Given the description of an element on the screen output the (x, y) to click on. 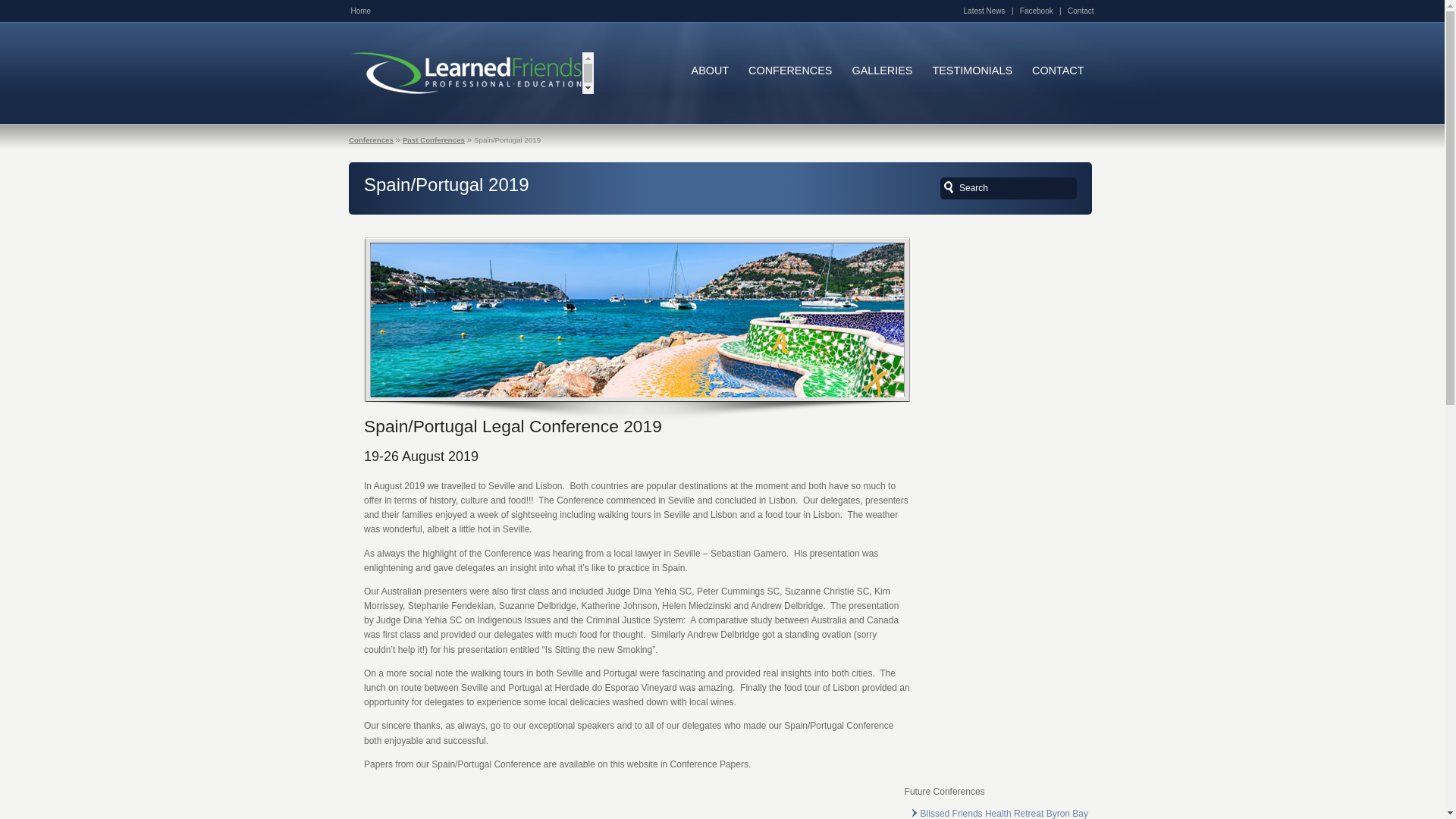
Conferences Element type: text (370, 139)
Home Element type: text (360, 10)
ABOUT Element type: text (710, 70)
Past Conferences Element type: text (433, 139)
Contact Element type: text (1080, 10)
Future Conferences Element type: text (962, 792)
CONFERENCES Element type: text (789, 70)
Facebook Element type: text (1036, 10)
Latest News Element type: text (984, 10)
GALLERIES Element type: text (881, 70)
CONTACT Element type: text (1057, 70)
  Element type: text (948, 187)
TESTIMONIALS Element type: text (972, 70)
